Given the description of an element on the screen output the (x, y) to click on. 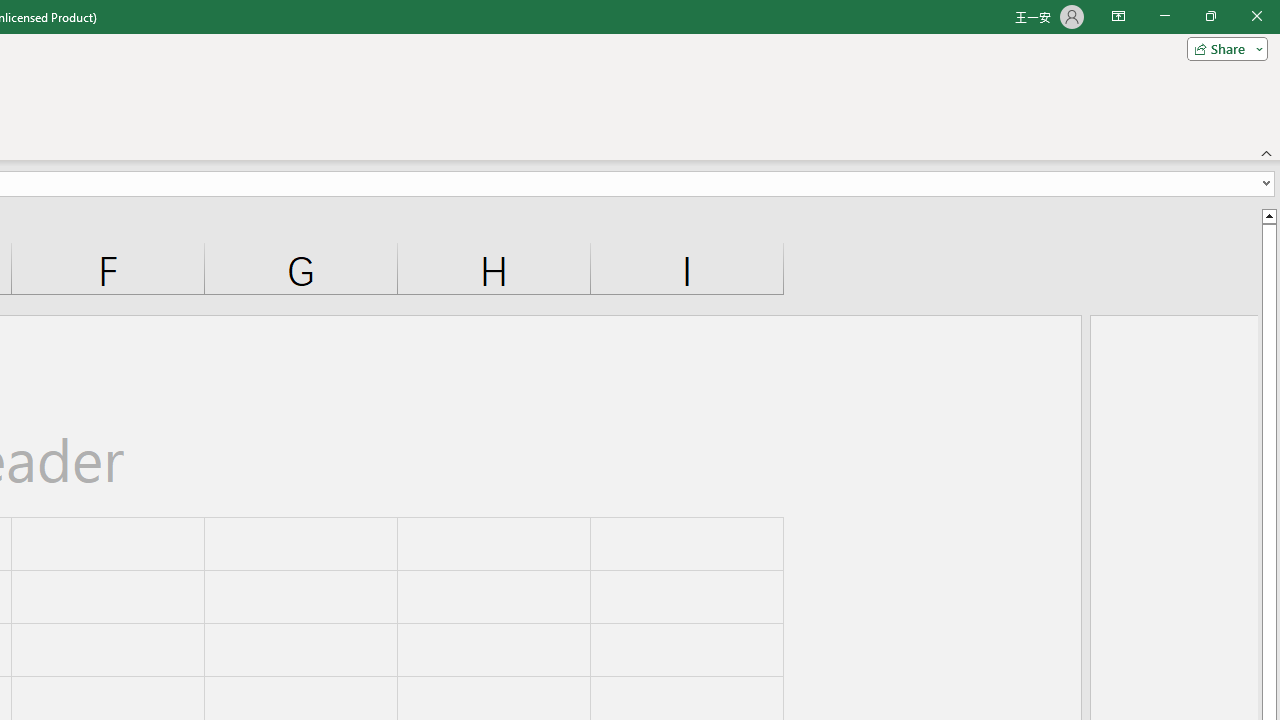
Line up (1268, 215)
Share (1223, 48)
Minimize (1164, 16)
Restore Down (1210, 16)
Close (1256, 16)
Collapse the Ribbon (1267, 152)
Ribbon Display Options (1118, 16)
